Given the description of an element on the screen output the (x, y) to click on. 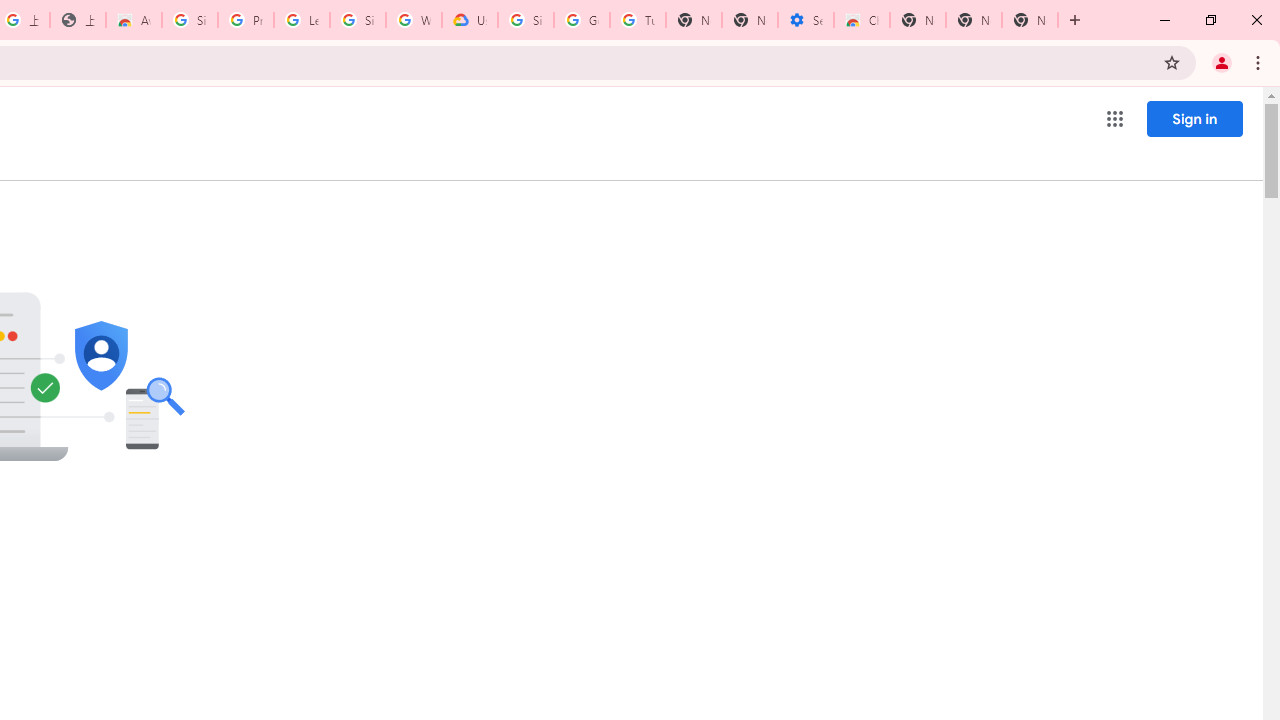
Who are Google's partners? - Privacy and conditions - Google (413, 20)
Awesome Screen Recorder & Screenshot - Chrome Web Store (134, 20)
Sign in - Google Accounts (189, 20)
Sign in - Google Accounts (358, 20)
